Given the description of an element on the screen output the (x, y) to click on. 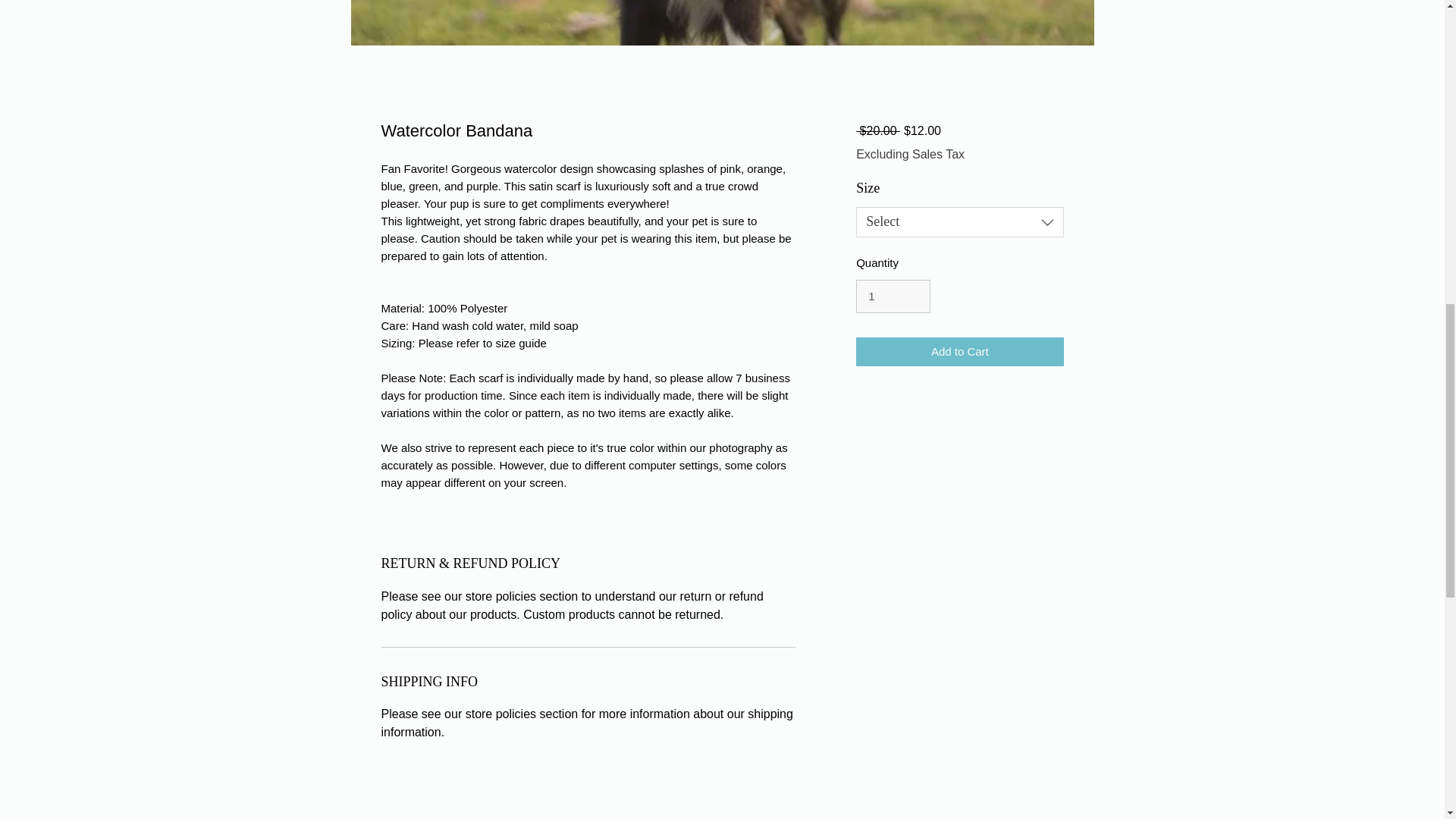
1 (893, 296)
Select (959, 222)
Add to Cart (959, 351)
